Given the description of an element on the screen output the (x, y) to click on. 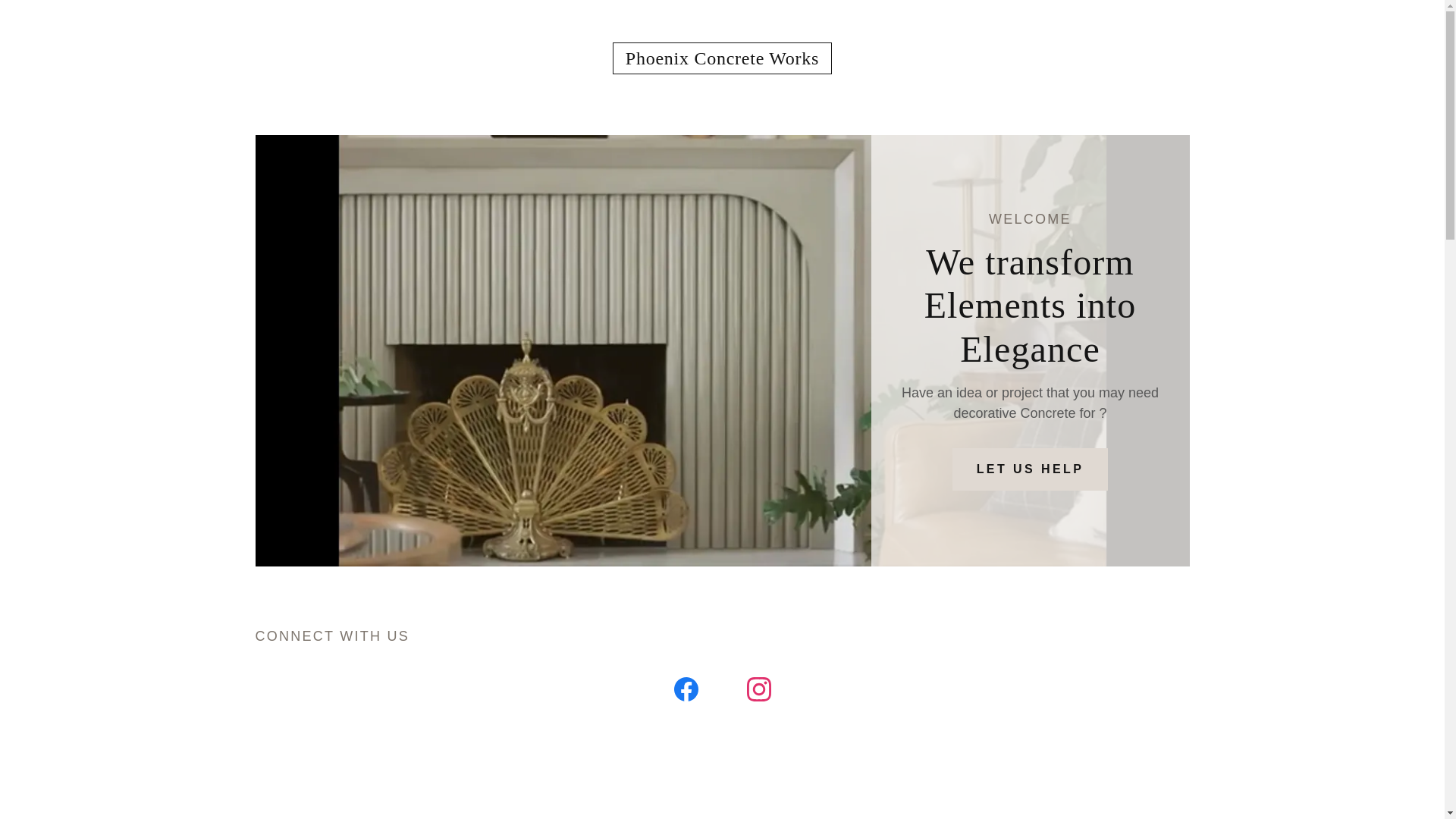
Phoenix Concrete Works (721, 59)
LET US HELP (1030, 468)
Phoenix Concrete Works (721, 59)
